Given the description of an element on the screen output the (x, y) to click on. 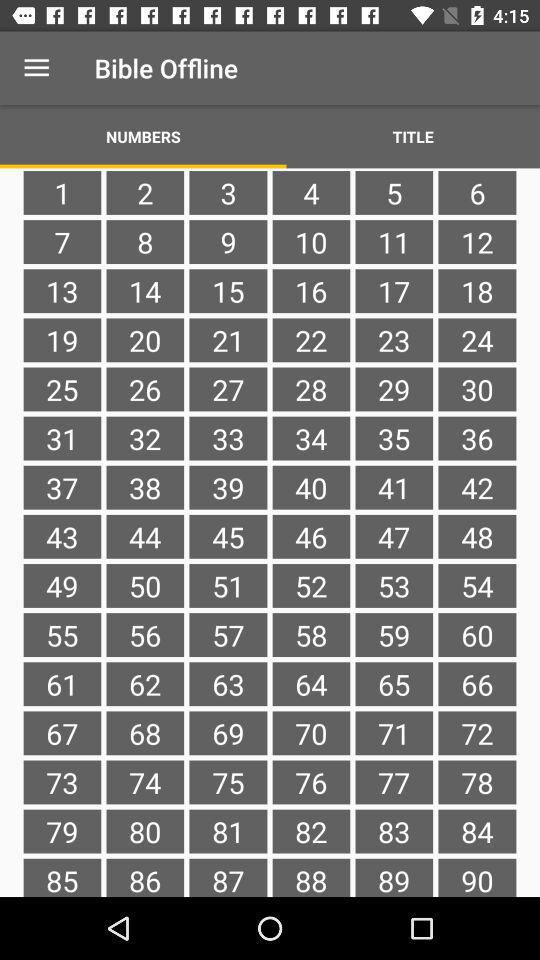
flip to 73 item (62, 782)
